Given the description of an element on the screen output the (x, y) to click on. 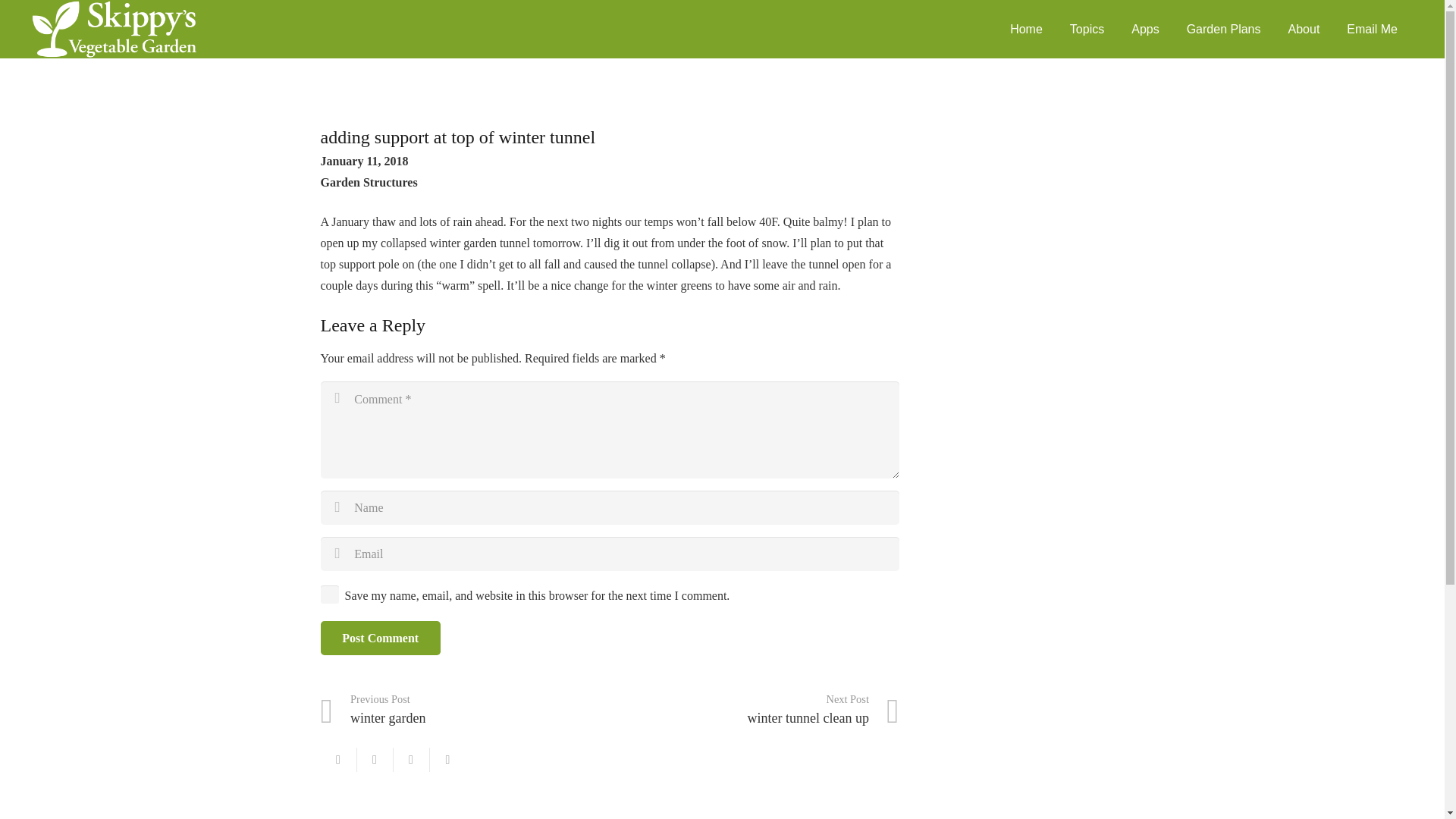
Home (1026, 29)
Topics (1087, 29)
winter tunnel clean up (754, 709)
Garden Plans (1224, 29)
Apps (1145, 29)
Pin this (447, 759)
Share this (374, 759)
Tweet this (411, 759)
winter garden (465, 709)
Email this (338, 759)
